Given the description of an element on the screen output the (x, y) to click on. 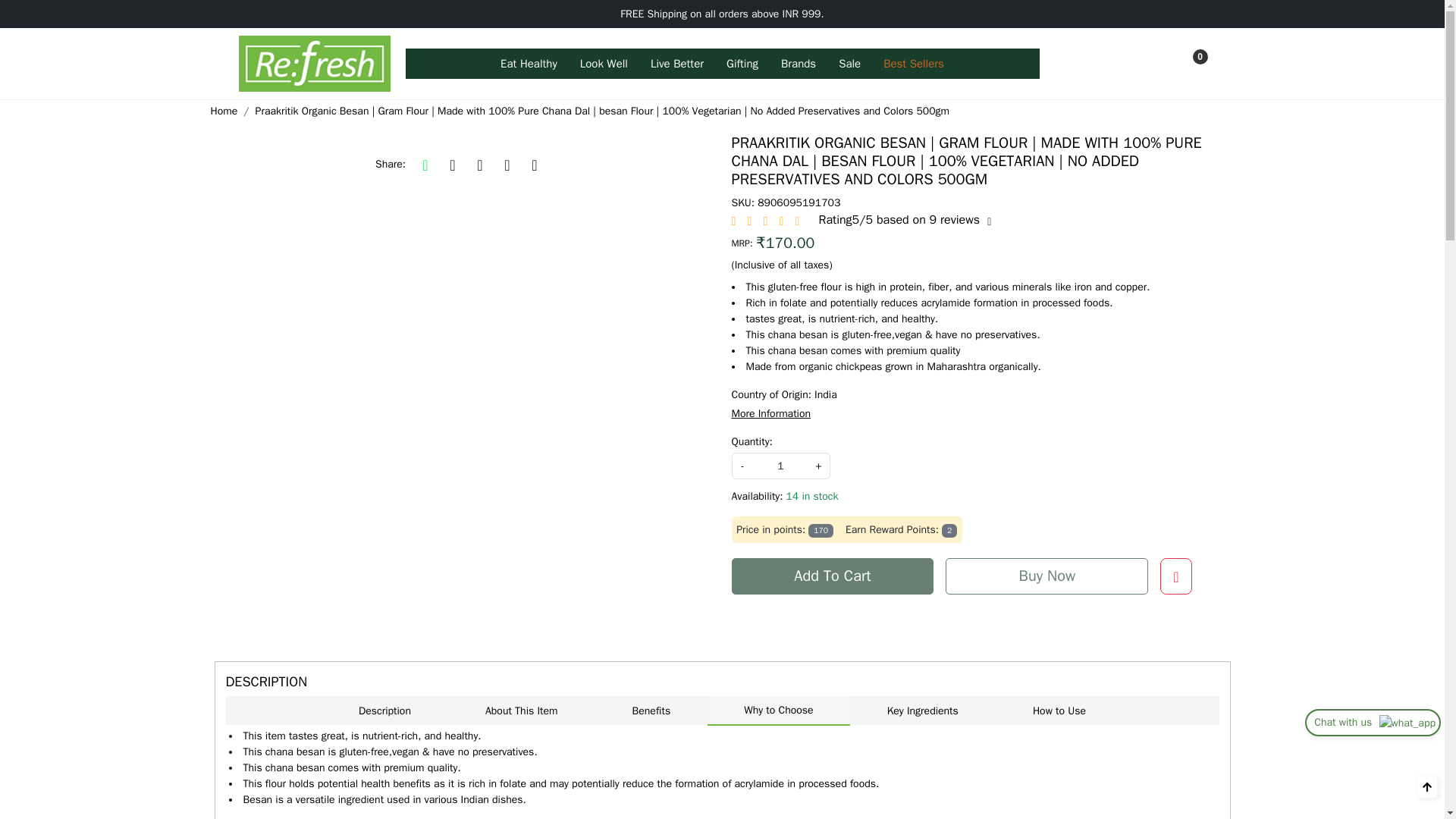
Eat Healthy (529, 63)
Home (314, 63)
Look Well (604, 63)
1 (779, 465)
Shopping Bag (1190, 63)
